Given the description of an element on the screen output the (x, y) to click on. 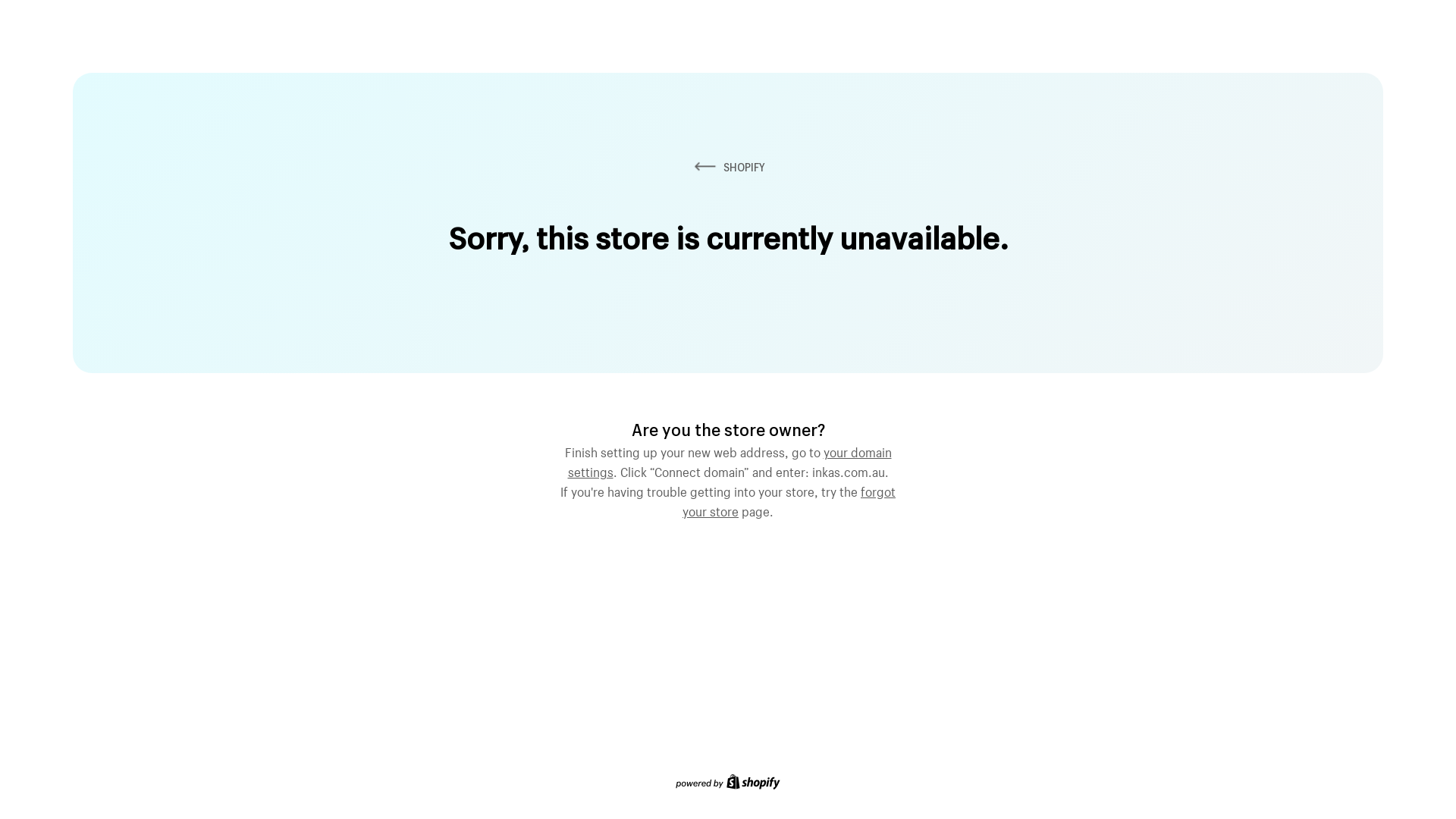
forgot your store Element type: text (788, 499)
your domain settings Element type: text (729, 460)
SHOPIFY Element type: text (727, 167)
